Given the description of an element on the screen output the (x, y) to click on. 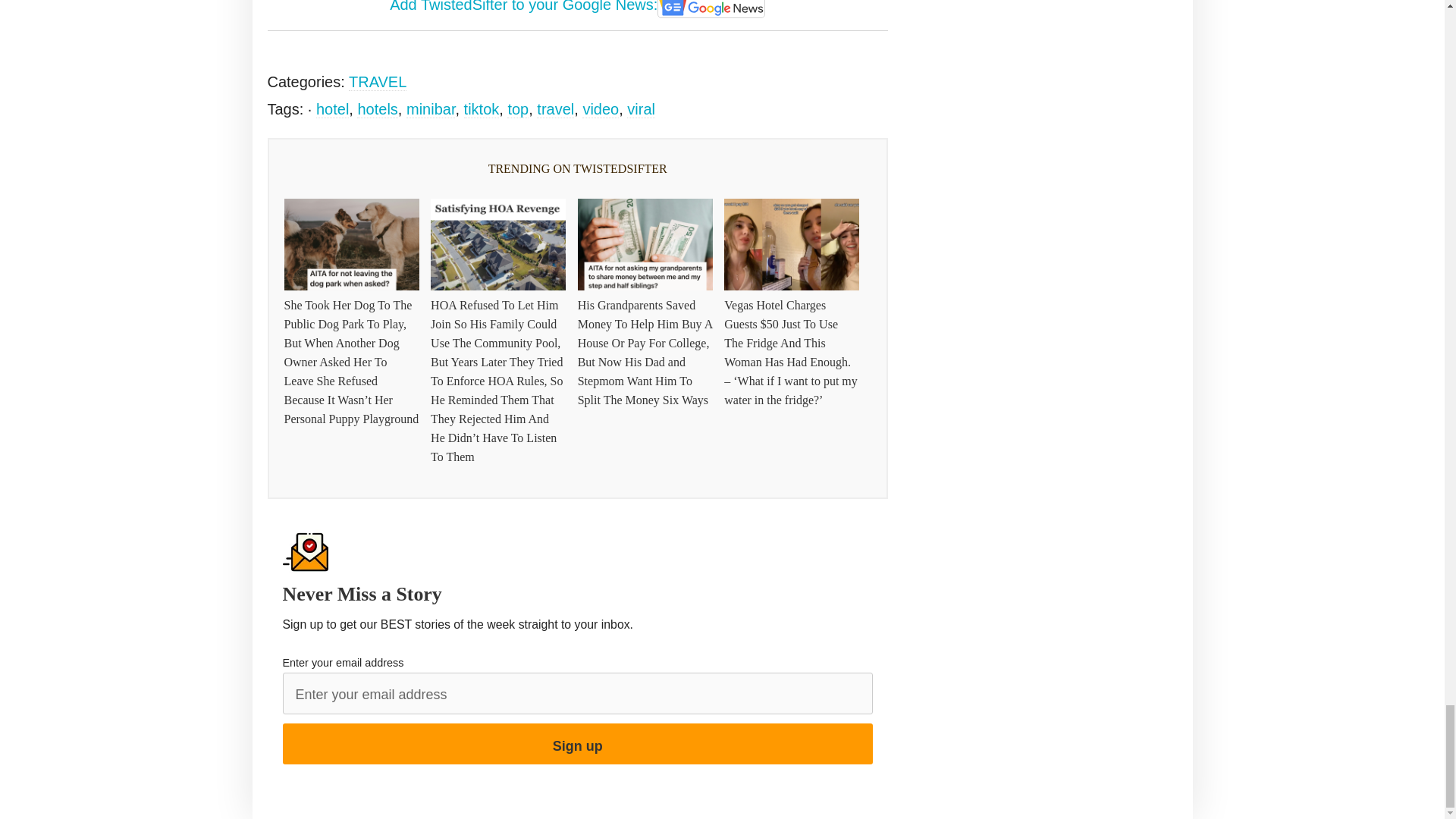
Sign up (577, 743)
hotels (376, 108)
Add TwistedSifter to your Google News: (577, 6)
hotel (332, 108)
TRAVEL (377, 81)
minibar (430, 108)
Google News (711, 9)
